Given the description of an element on the screen output the (x, y) to click on. 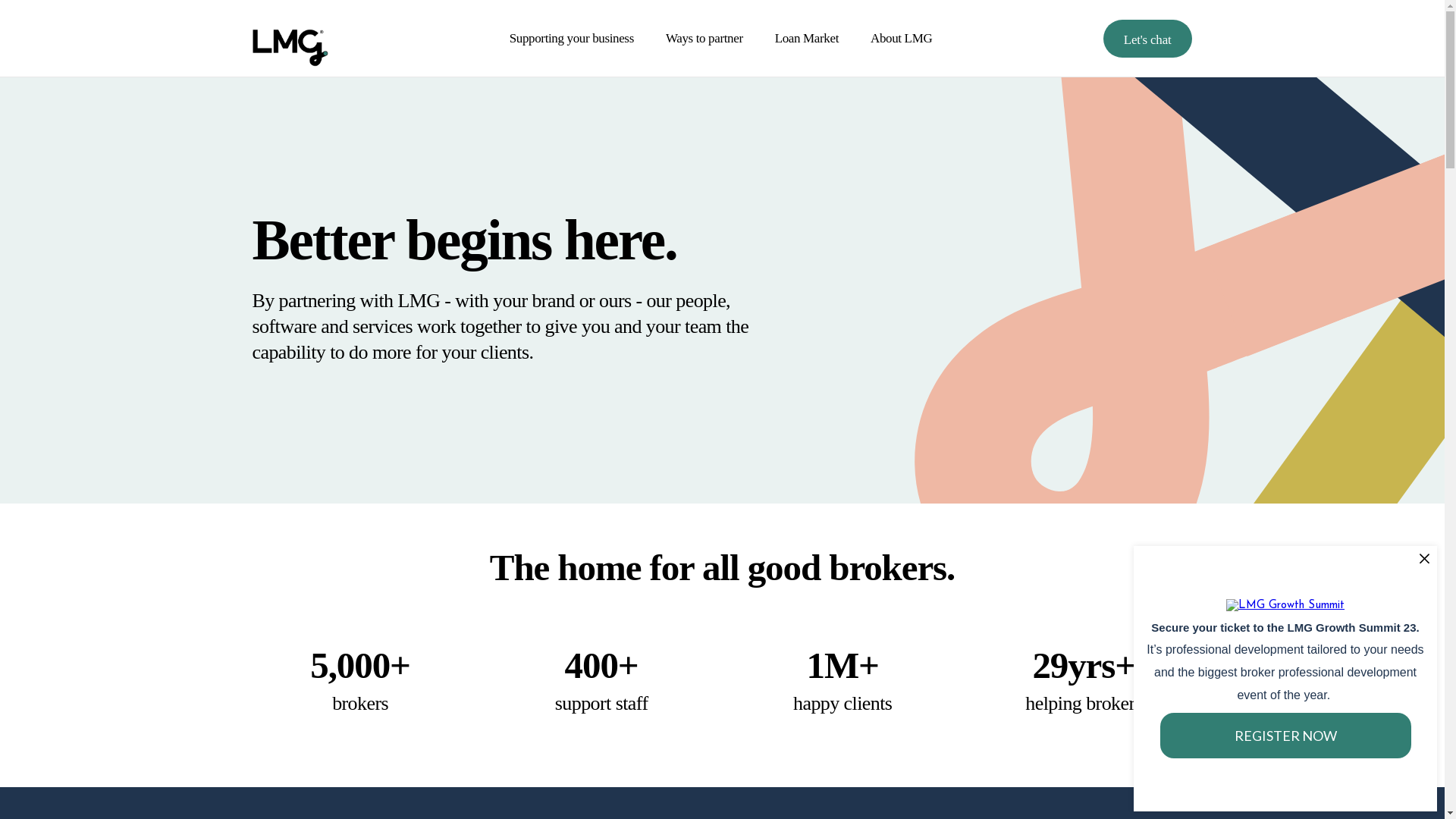
About LMG Element type: text (900, 38)
Ways to partner Element type: text (704, 38)
Loan Market Element type: text (806, 38)
Supporting your business Element type: text (571, 38)
Let's chat Element type: text (1147, 38)
